Given the description of an element on the screen output the (x, y) to click on. 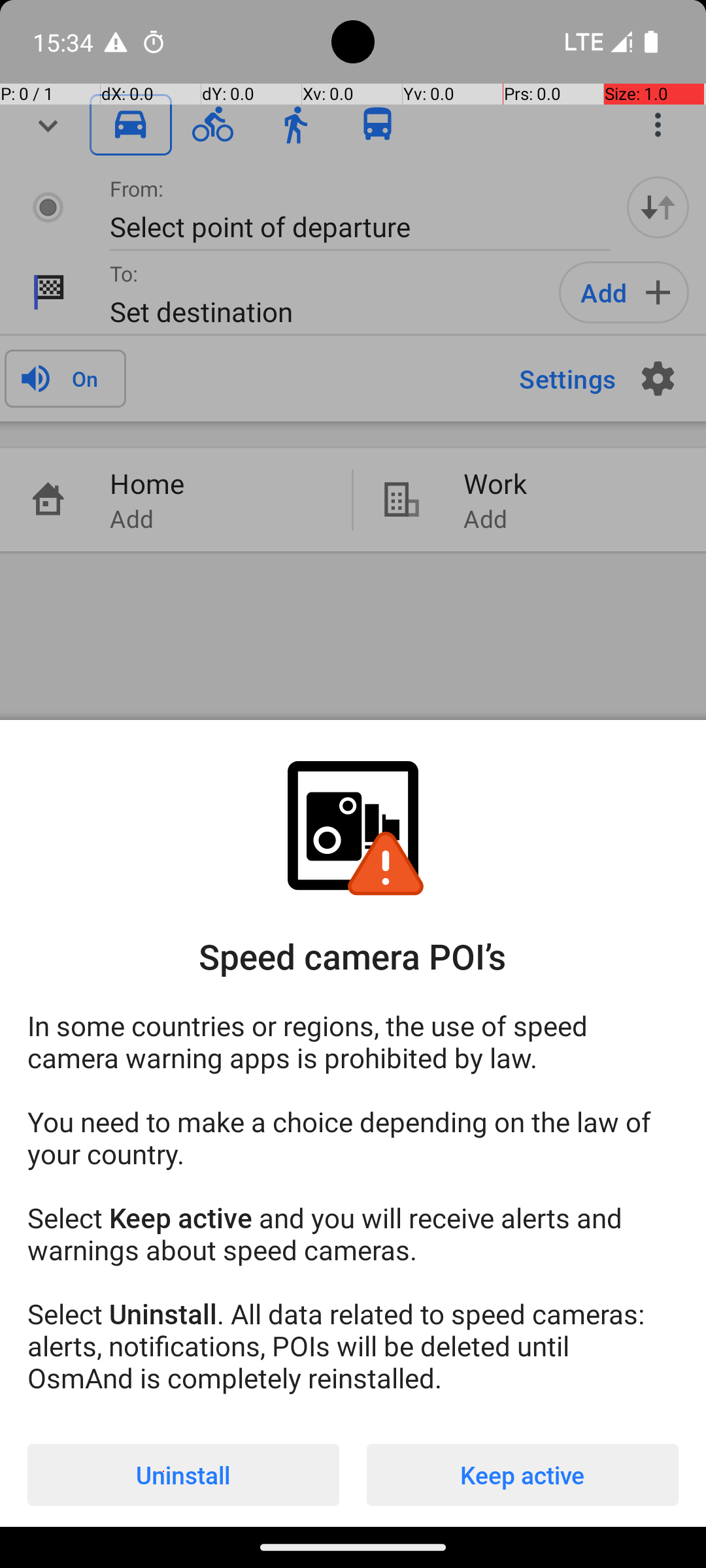
Close the dialog Element type: android.view.View (353, 388)
